Given the description of an element on the screen output the (x, y) to click on. 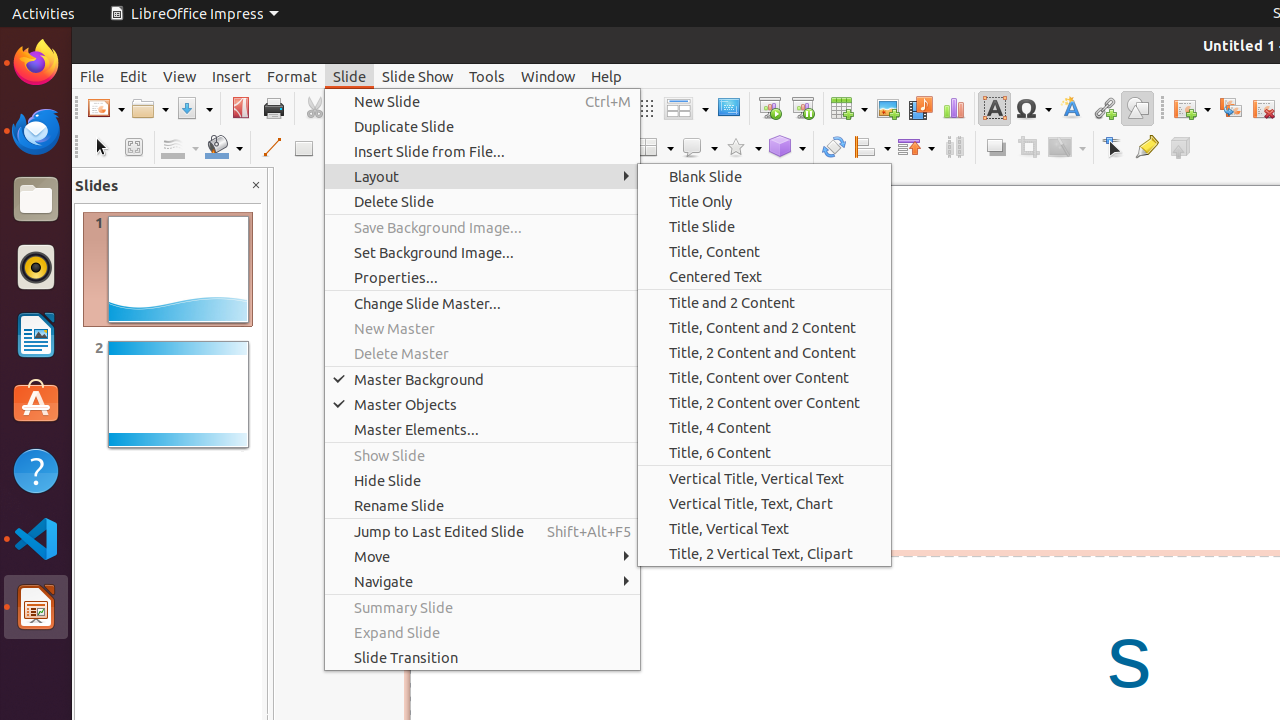
Rename Slide Element type: menu-item (482, 505)
LibreOffice Impress Element type: push-button (36, 607)
Expand Slide Element type: menu-item (482, 632)
Line Color Element type: push-button (180, 147)
Summary Slide Element type: menu-item (482, 607)
